Given the description of an element on the screen output the (x, y) to click on. 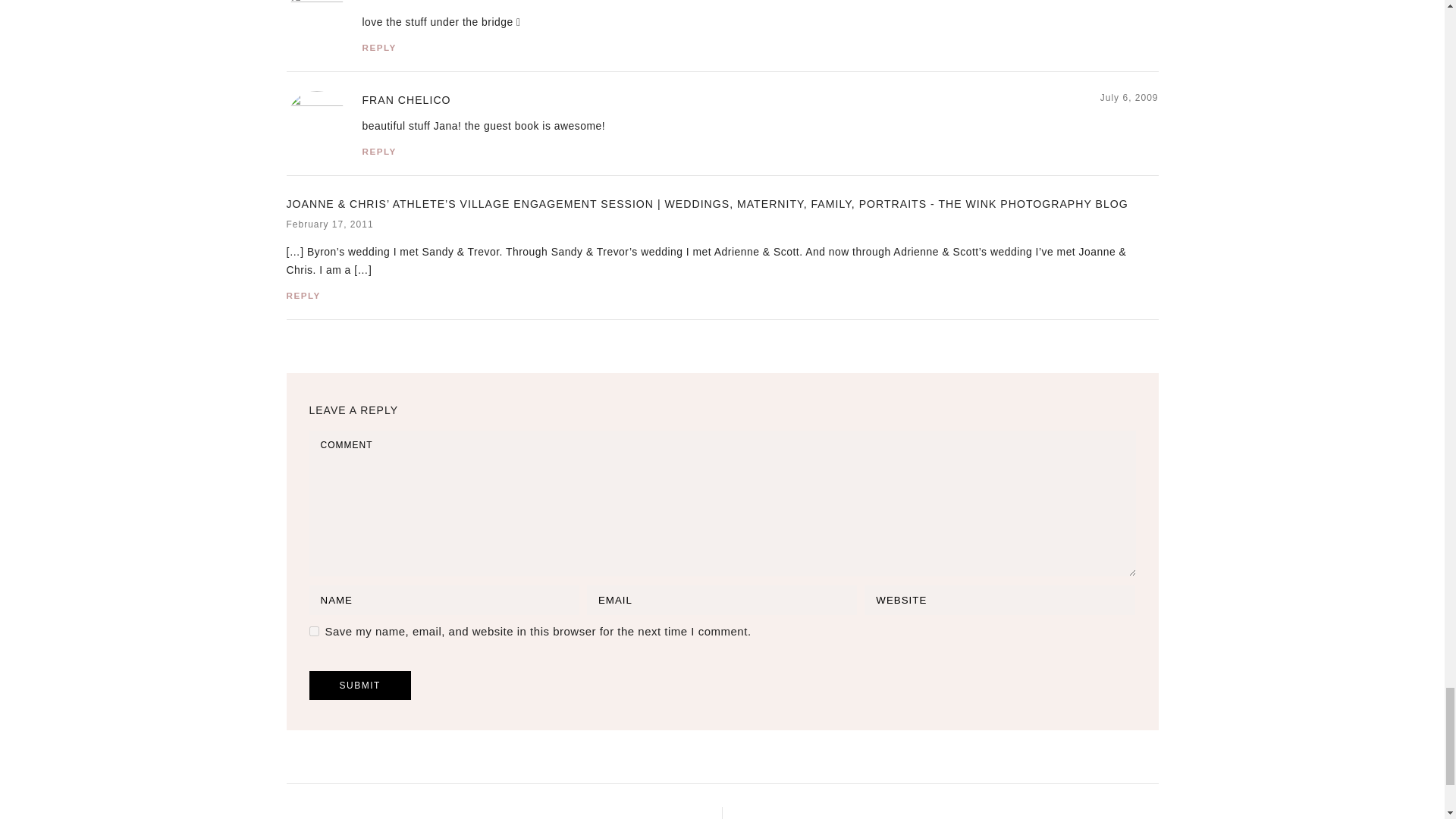
FRAN CHELICO (406, 100)
Submit (359, 685)
REPLY (379, 47)
Submit (359, 685)
PREVIOUS POST (441, 817)
REPLY (379, 151)
NEXT POST (1018, 817)
KATE ROSE (395, 1)
yes (313, 631)
REPLY (303, 295)
